Given the description of an element on the screen output the (x, y) to click on. 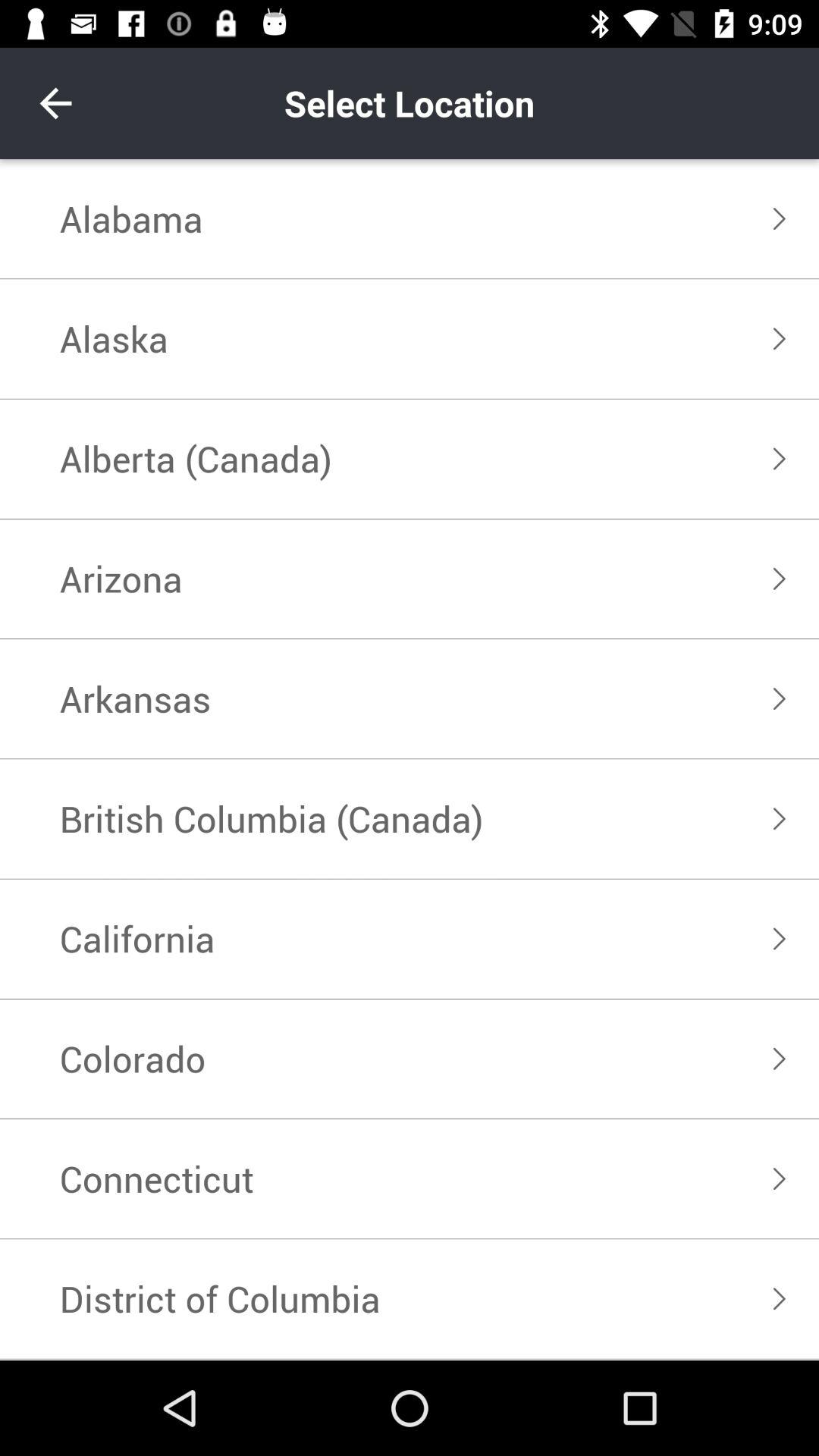
tap icon to the left of select location item (55, 103)
